Given the description of an element on the screen output the (x, y) to click on. 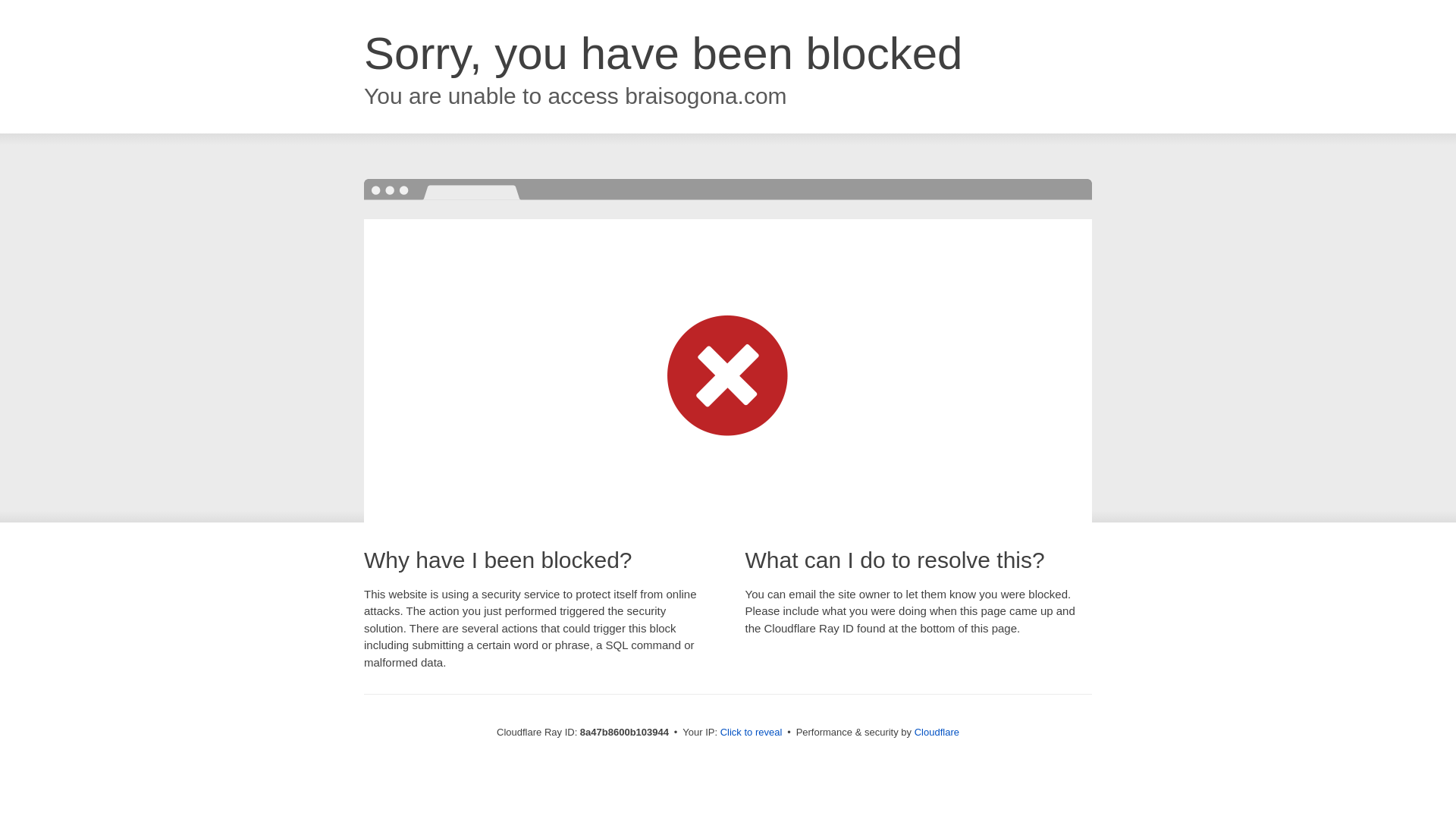
Cloudflare (936, 731)
Click to reveal (751, 732)
